Given the description of an element on the screen output the (x, y) to click on. 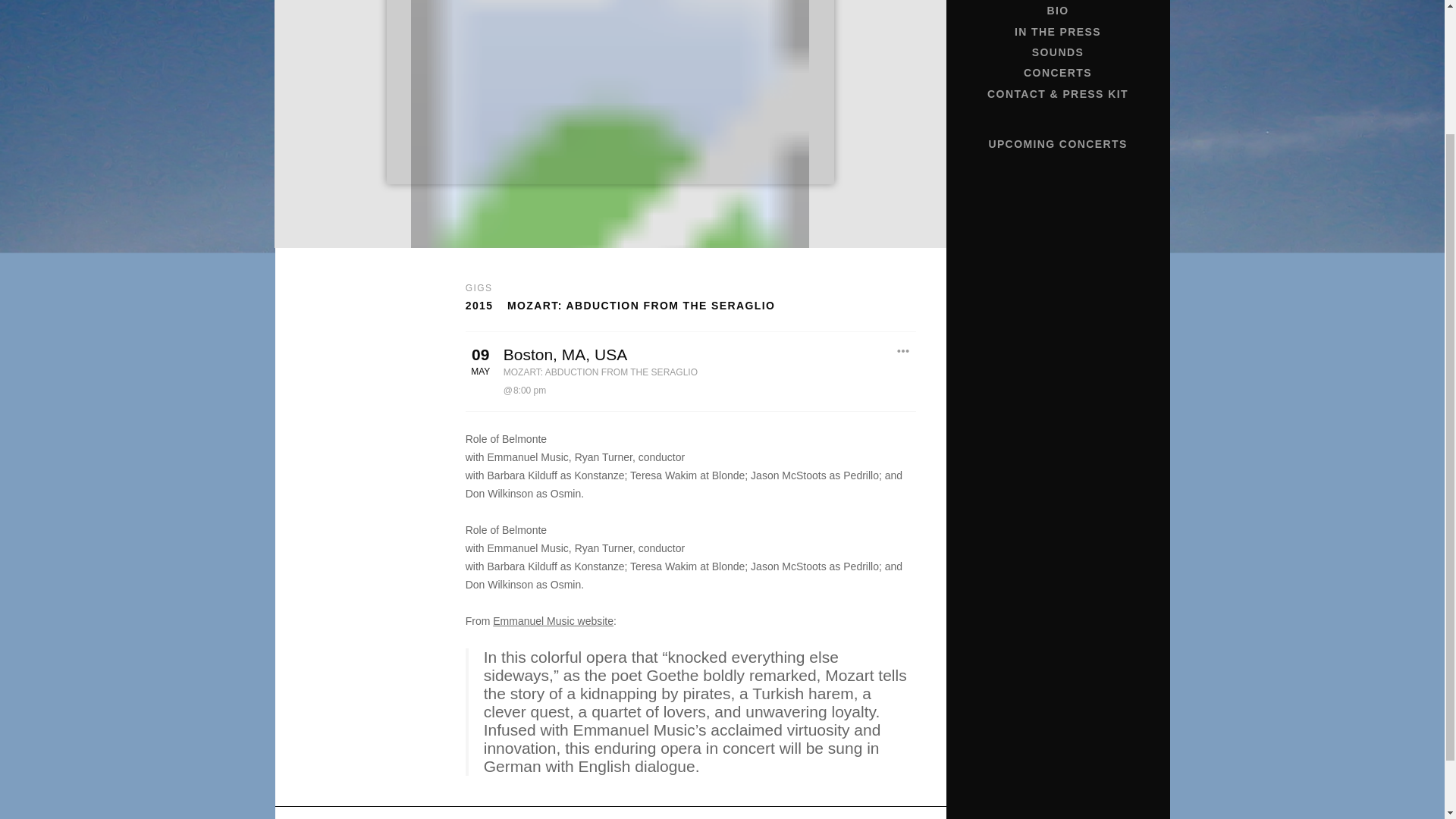
BIO (1056, 10)
More (903, 351)
Emmanuel Music website (552, 621)
IN THE PRESS (1056, 32)
GIGS (479, 287)
CONCERTS (1056, 73)
SOUNDS (1056, 52)
